Given the description of an element on the screen output the (x, y) to click on. 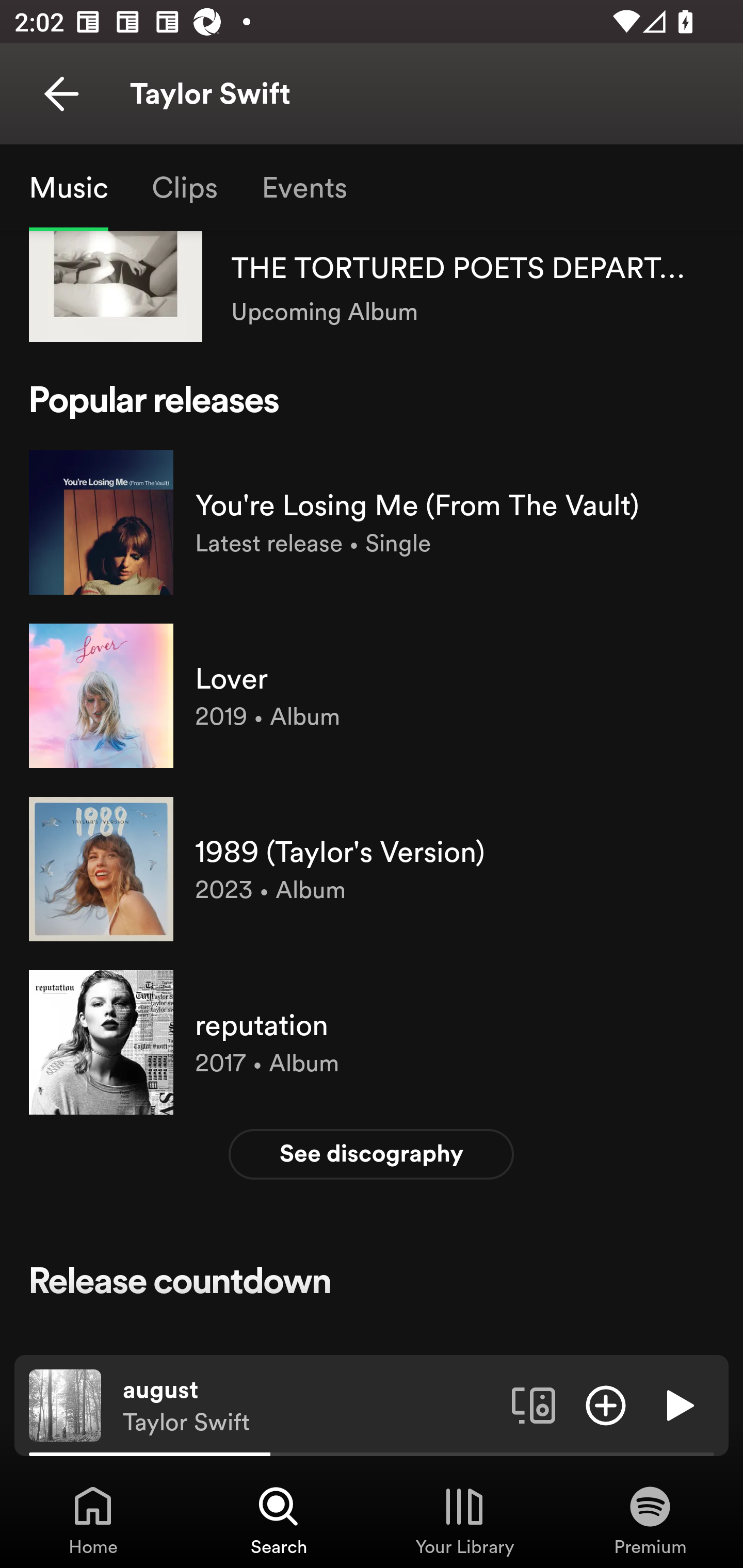
Back (60, 93)
Clips (184, 187)
Events (303, 187)
THE TORTURED POETS DEPARTMENT Upcoming Album (371, 285)
Lover 2019 • Album (371, 695)
1989 (Taylor's Version) 2023 • Album (371, 869)
reputation 2017 • Album (371, 1042)
See discography (371, 1153)
august Taylor Swift (309, 1405)
The cover art of the currently playing track (64, 1404)
Connect to a device. Opens the devices menu (533, 1404)
Add item (605, 1404)
Play (677, 1404)
Home, Tab 1 of 4 Home Home (92, 1519)
Search, Tab 2 of 4 Search Search (278, 1519)
Your Library, Tab 3 of 4 Your Library Your Library (464, 1519)
Premium, Tab 4 of 4 Premium Premium (650, 1519)
